Given the description of an element on the screen output the (x, y) to click on. 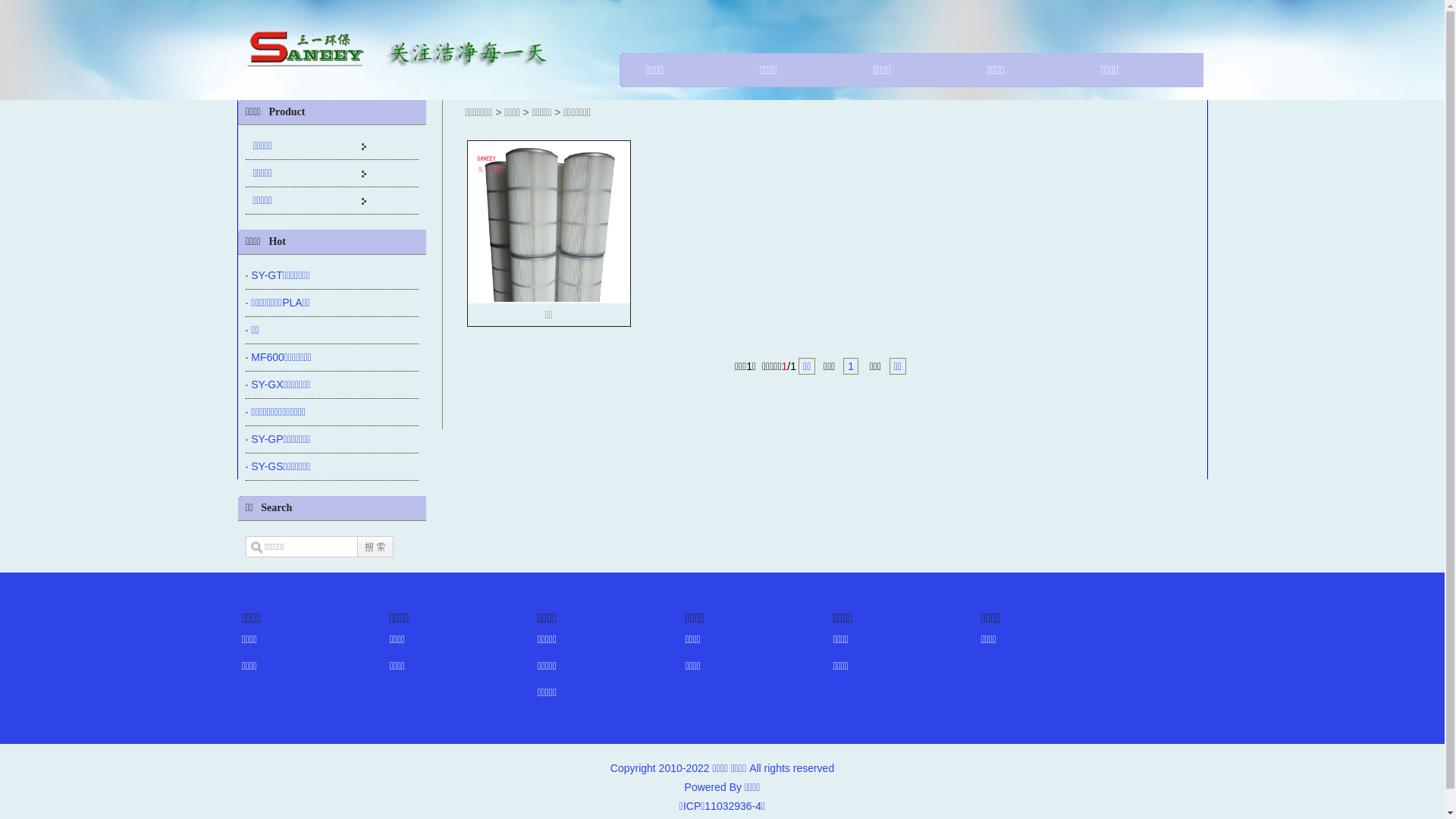
  Element type: text (374, 544)
1 Element type: text (850, 365)
